Given the description of an element on the screen output the (x, y) to click on. 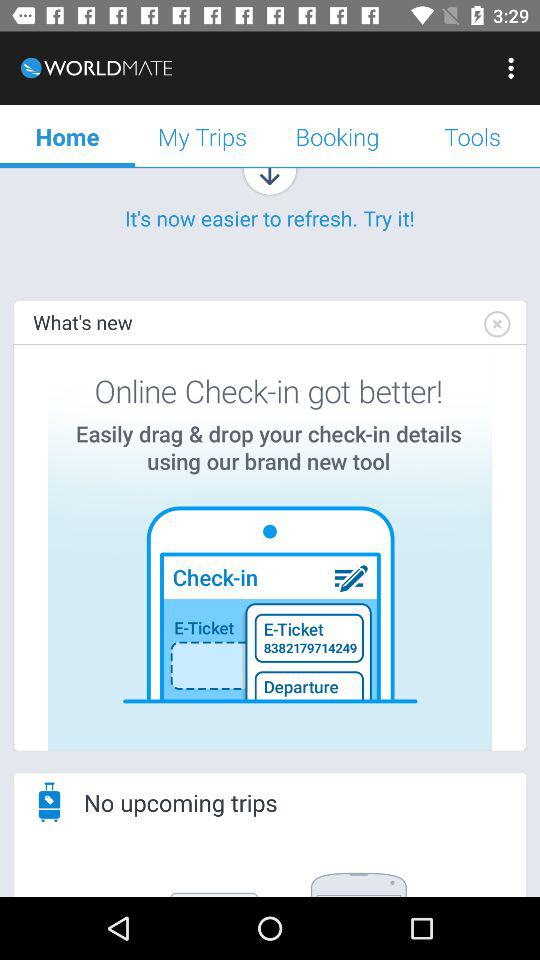
turn on the app to the right of the booking item (513, 67)
